Given the description of an element on the screen output the (x, y) to click on. 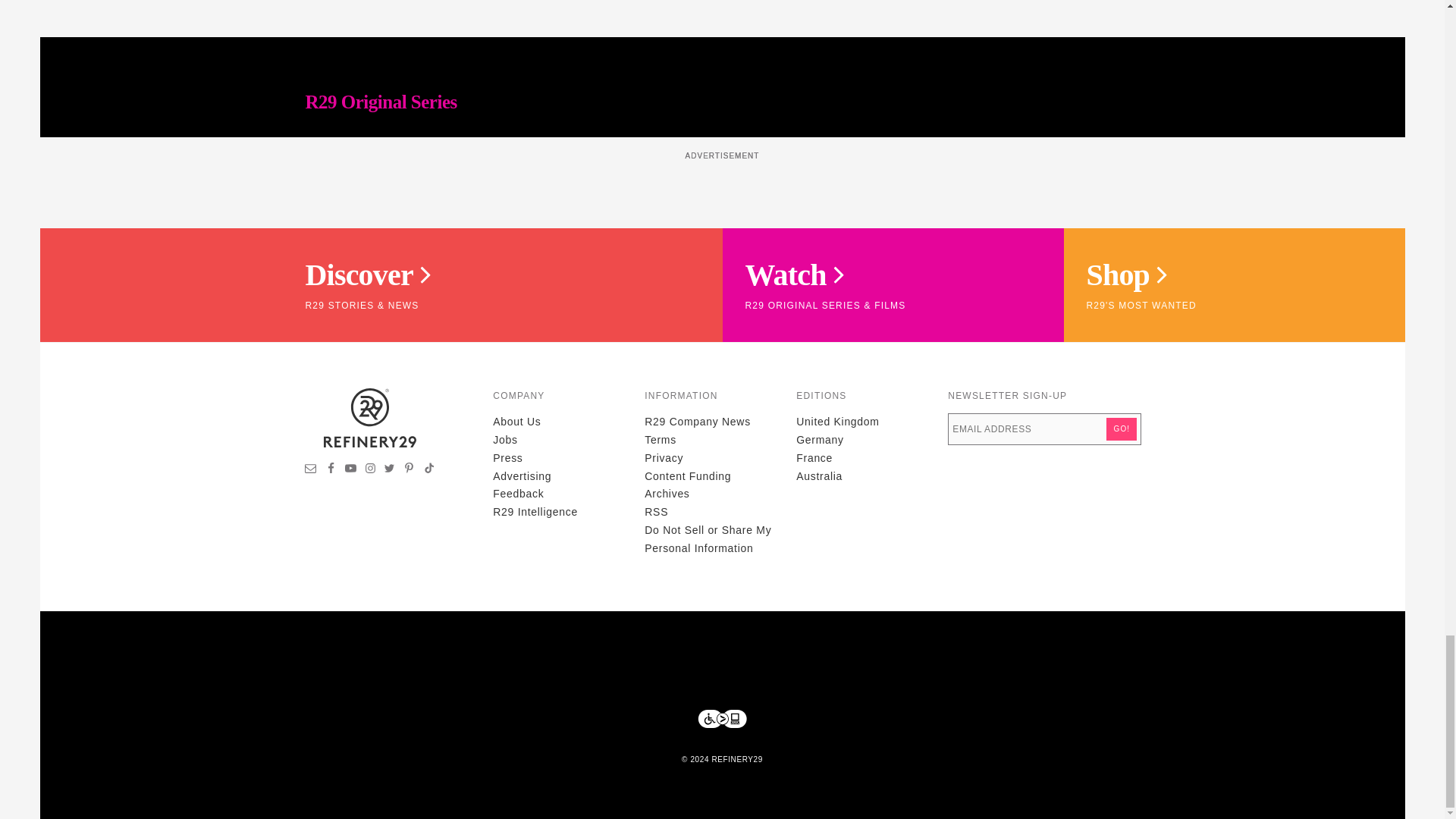
Visit Refinery29 on TikTok (428, 469)
Sign up for newsletters (310, 469)
Visit Refinery29 on YouTube (350, 469)
